Given the description of an element on the screen output the (x, y) to click on. 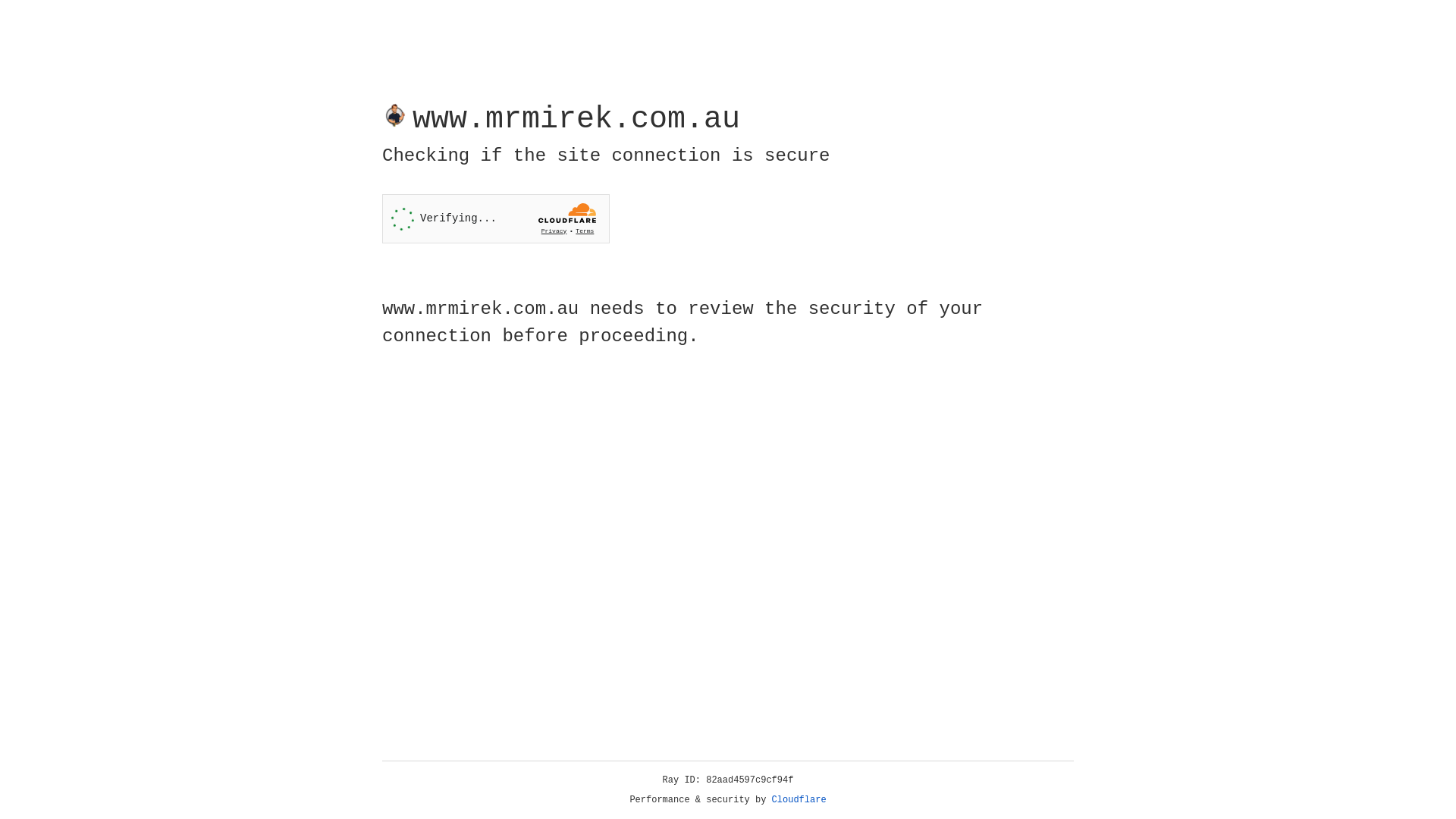
Cloudflare Element type: text (798, 799)
Widget containing a Cloudflare security challenge Element type: hover (495, 218)
